Given the description of an element on the screen output the (x, y) to click on. 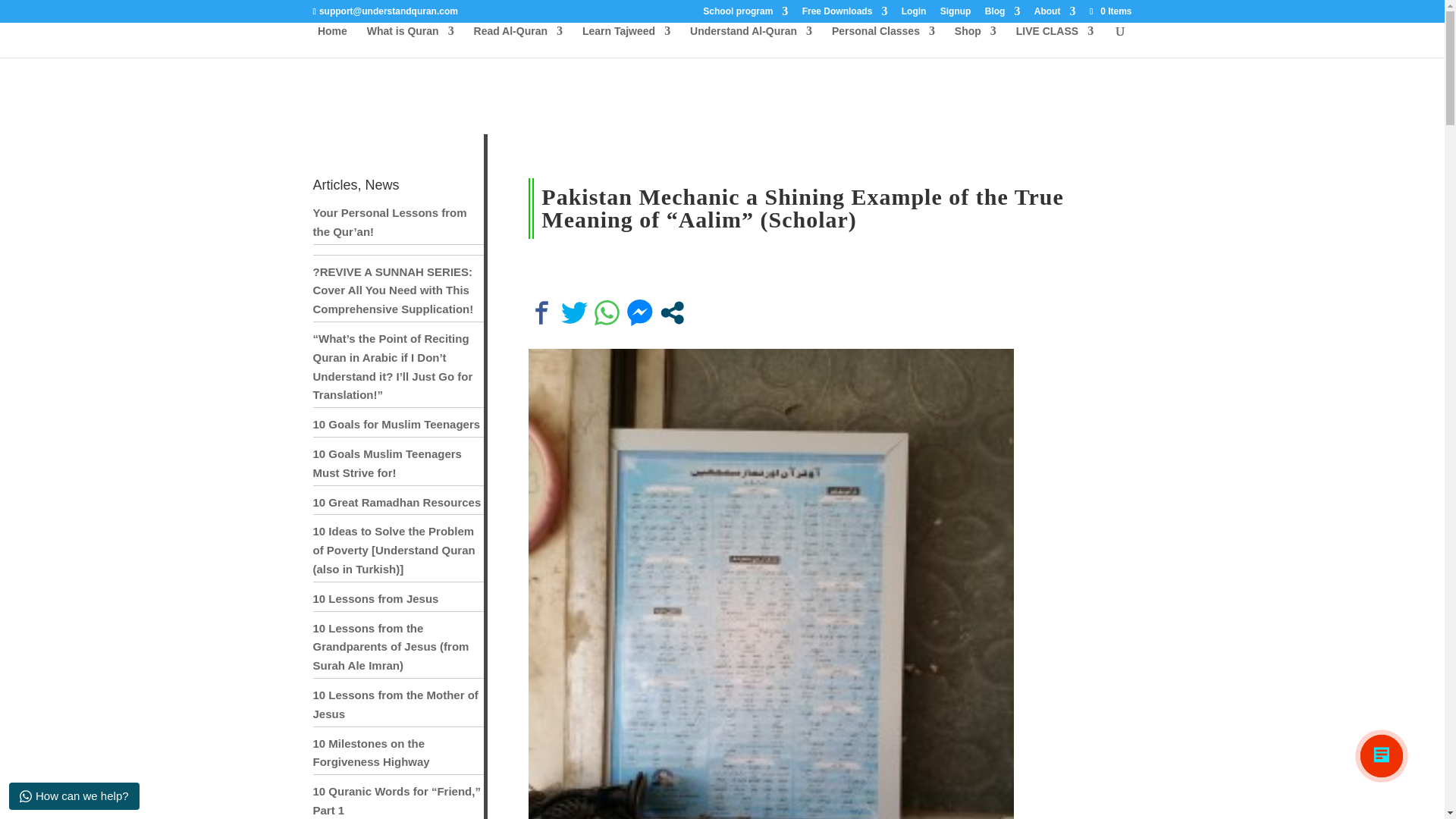
Open modal social networks (672, 312)
Login (913, 14)
Signup (955, 14)
Tweet (574, 312)
Permanent Link to 10 Goals Muslim Teenagers Must Strive for! (387, 463)
Permanent Link to 10 Great Ramadhan Resources (396, 502)
Share on Facebook (541, 312)
Permanent Link to 10 Goals for Muslim Teenagers (396, 423)
School program (745, 14)
